Given the description of an element on the screen output the (x, y) to click on. 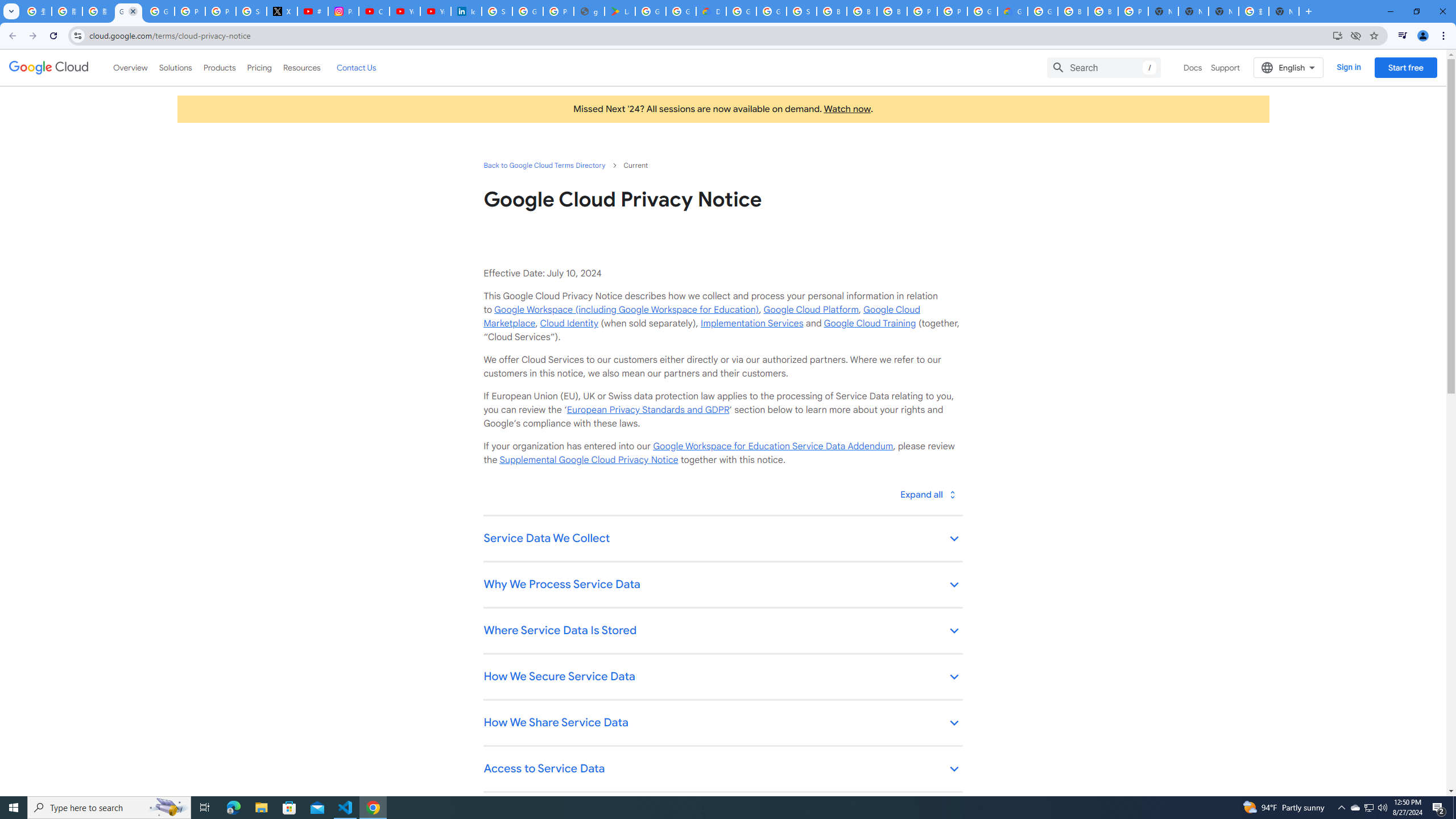
Back to Google Cloud Terms Directory (544, 165)
